Given the description of an element on the screen output the (x, y) to click on. 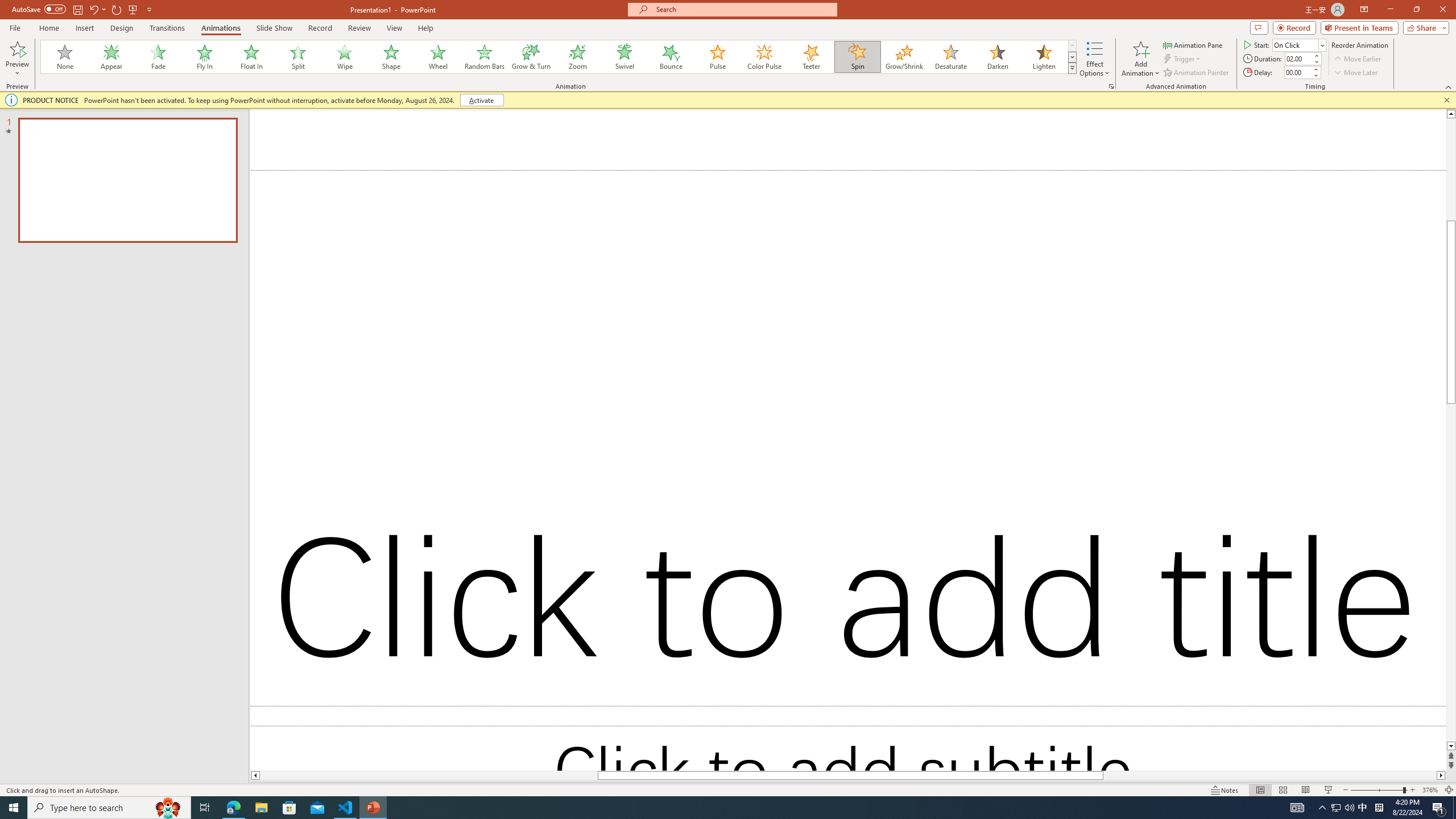
None (65, 56)
Open (1321, 44)
Class: MsoCommandBar (728, 789)
Less (1315, 75)
Shape (391, 56)
Wipe (344, 56)
Float In (251, 56)
Bounce (670, 56)
More (1315, 69)
